Given the description of an element on the screen output the (x, y) to click on. 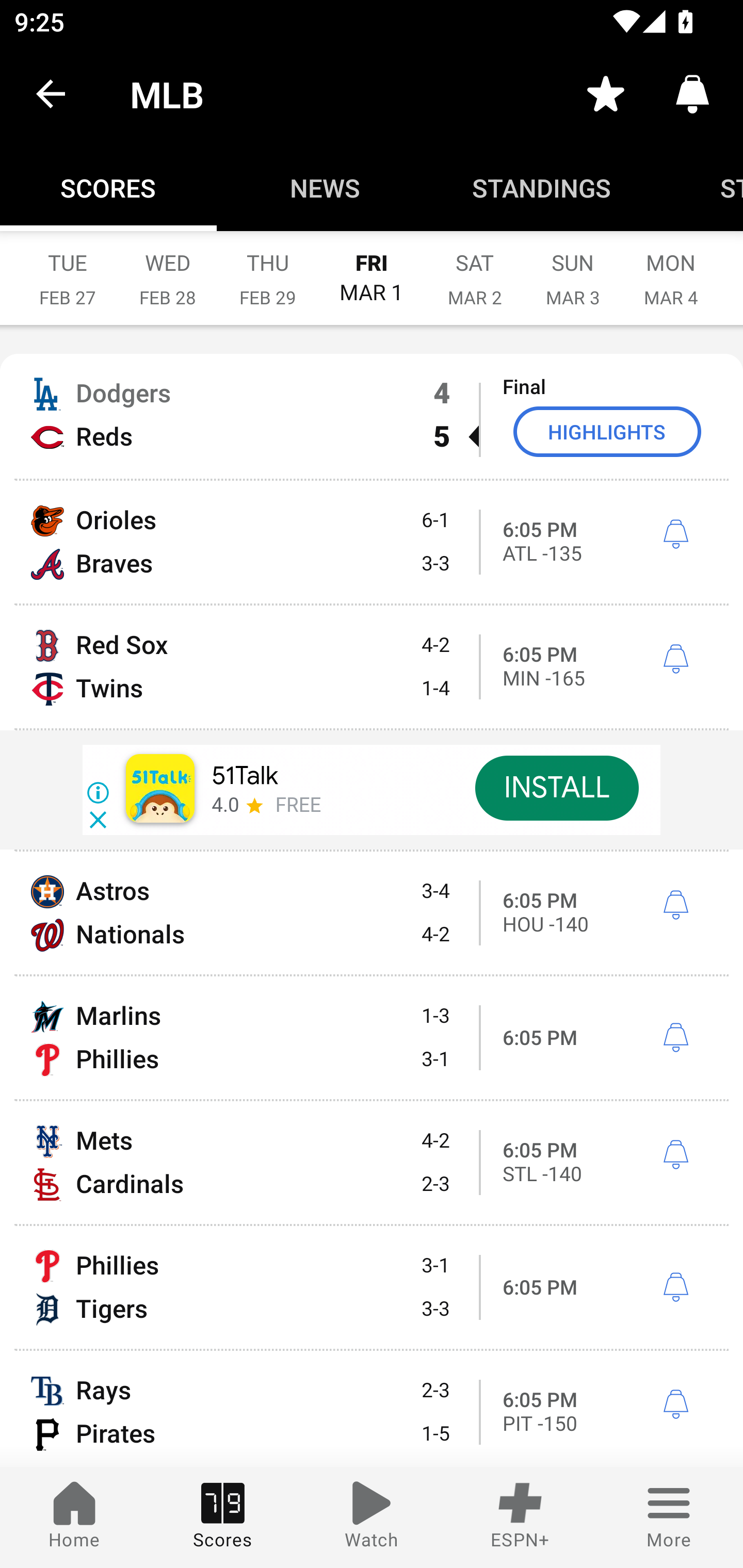
back.button (50, 93)
Favorite toggle (605, 93)
Alerts (692, 93)
News NEWS (324, 187)
Standings STANDINGS (541, 187)
TUE FEB 27 (67, 268)
WED FEB 28 (167, 268)
THU FEB 29 (267, 268)
FRI MAR 1 (371, 267)
SAT MAR 2 (474, 268)
SUN MAR 3 (572, 268)
MON MAR 4 (670, 268)
Dodgers 4 Final Reds 5  HIGHLIGHTS (371, 416)
HIGHLIGHTS (607, 431)
Orioles 6-1 Braves 3-3 6:05 PM ATL -135 í (371, 542)
í (675, 534)
Red Sox 4-2 Twins 1-4 6:05 PM MIN -165 í (371, 666)
í (675, 658)
INSTALL (556, 787)
51Talk (244, 775)
Astros 3-4 Nationals 4-2 6:05 PM HOU -140 í (371, 912)
í (675, 905)
Marlins 1-3 Phillies 3-1 6:05 PM í (371, 1037)
í (675, 1037)
Mets 4-2 Cardinals 2-3 6:05 PM STL -140 í (371, 1162)
í (675, 1154)
Phillies 3-1 Tigers 3-3 6:05 PM í (371, 1287)
í (675, 1287)
Rays 2-3 Pirates 1-5 6:05 PM PIT -150 í (371, 1409)
í (675, 1404)
Home (74, 1517)
Watch (371, 1517)
ESPN+ (519, 1517)
More (668, 1517)
